Given the description of an element on the screen output the (x, y) to click on. 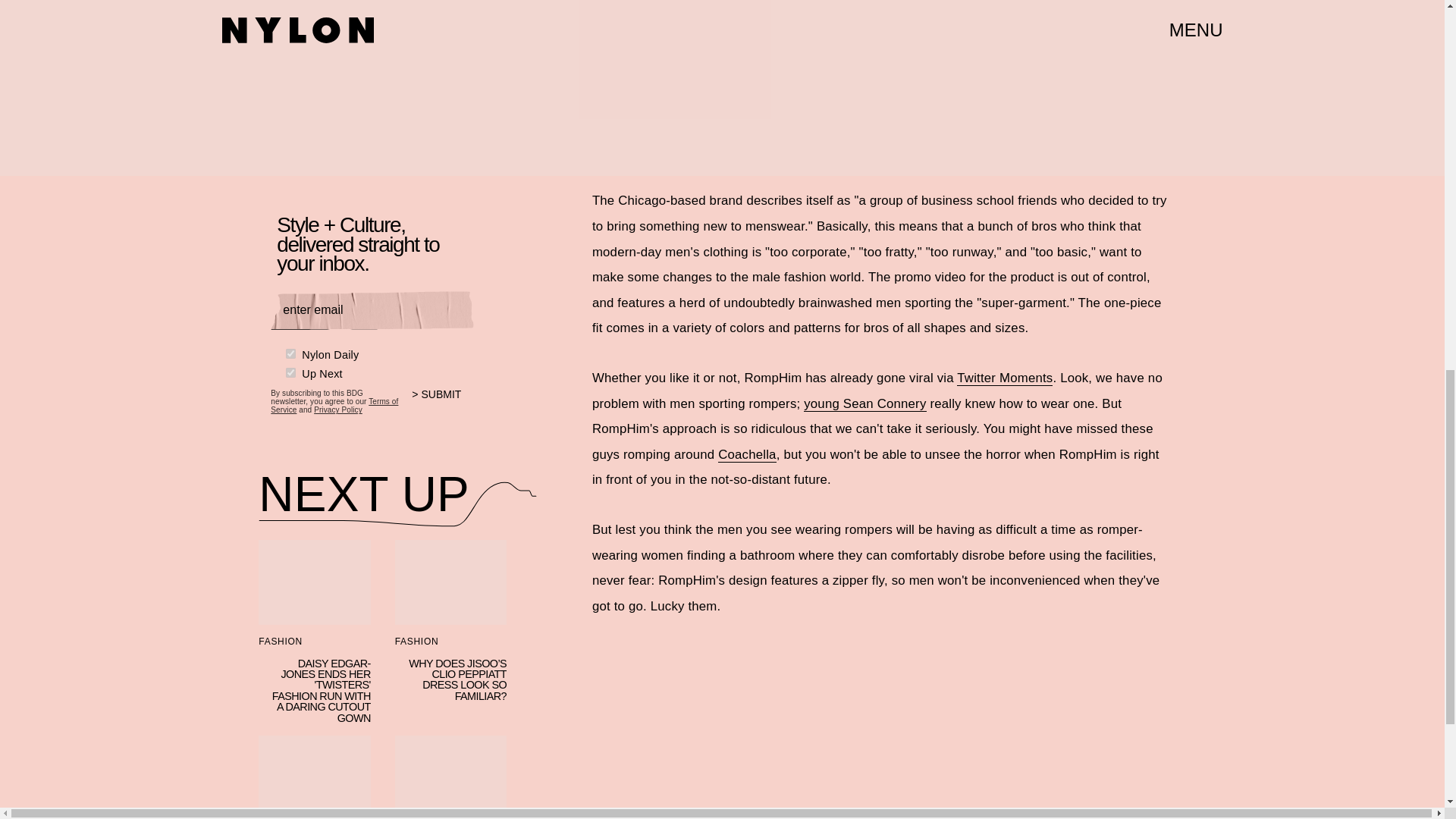
young Sean Connery (864, 403)
HOW TO GIVE YOUR SHEER TOP AN ELEVATED FEEL (450, 777)
Privacy Policy (338, 409)
SUBMIT (443, 404)
Twitter Moments (1004, 378)
THESE TRENDS COMMANDED COPENHAGEN FASHION WEEK (314, 777)
Coachella (746, 454)
Terms of Service (333, 405)
